Given the description of an element on the screen output the (x, y) to click on. 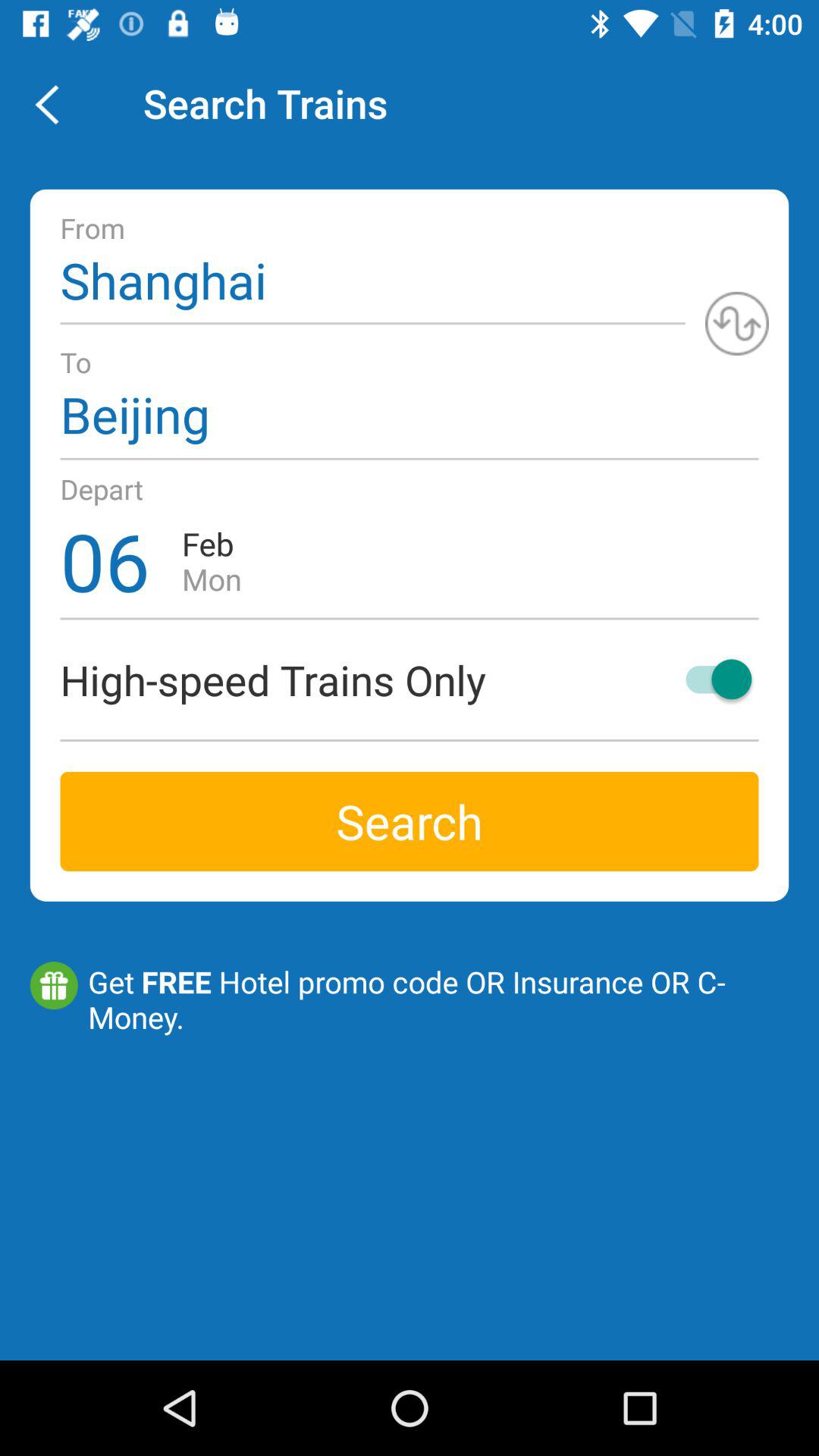
turn on the icon above the beijing (736, 323)
